Given the description of an element on the screen output the (x, y) to click on. 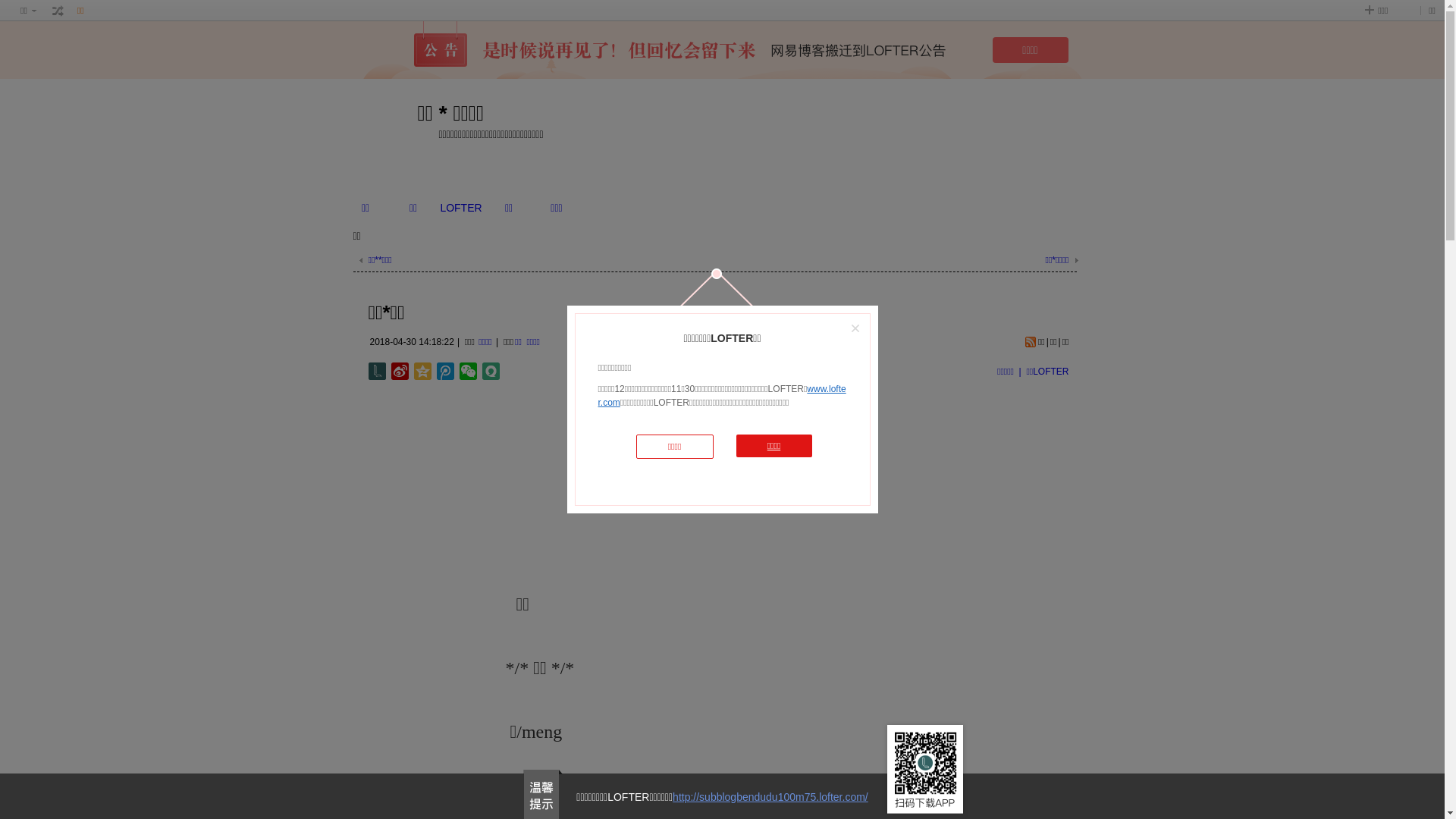
http://subblogbendudu100m75.lofter.com/ Element type: text (770, 796)
www.lofter.com Element type: text (721, 395)
  Element type: text (58, 10)
LOFTER Element type: text (460, 207)
